Given the description of an element on the screen output the (x, y) to click on. 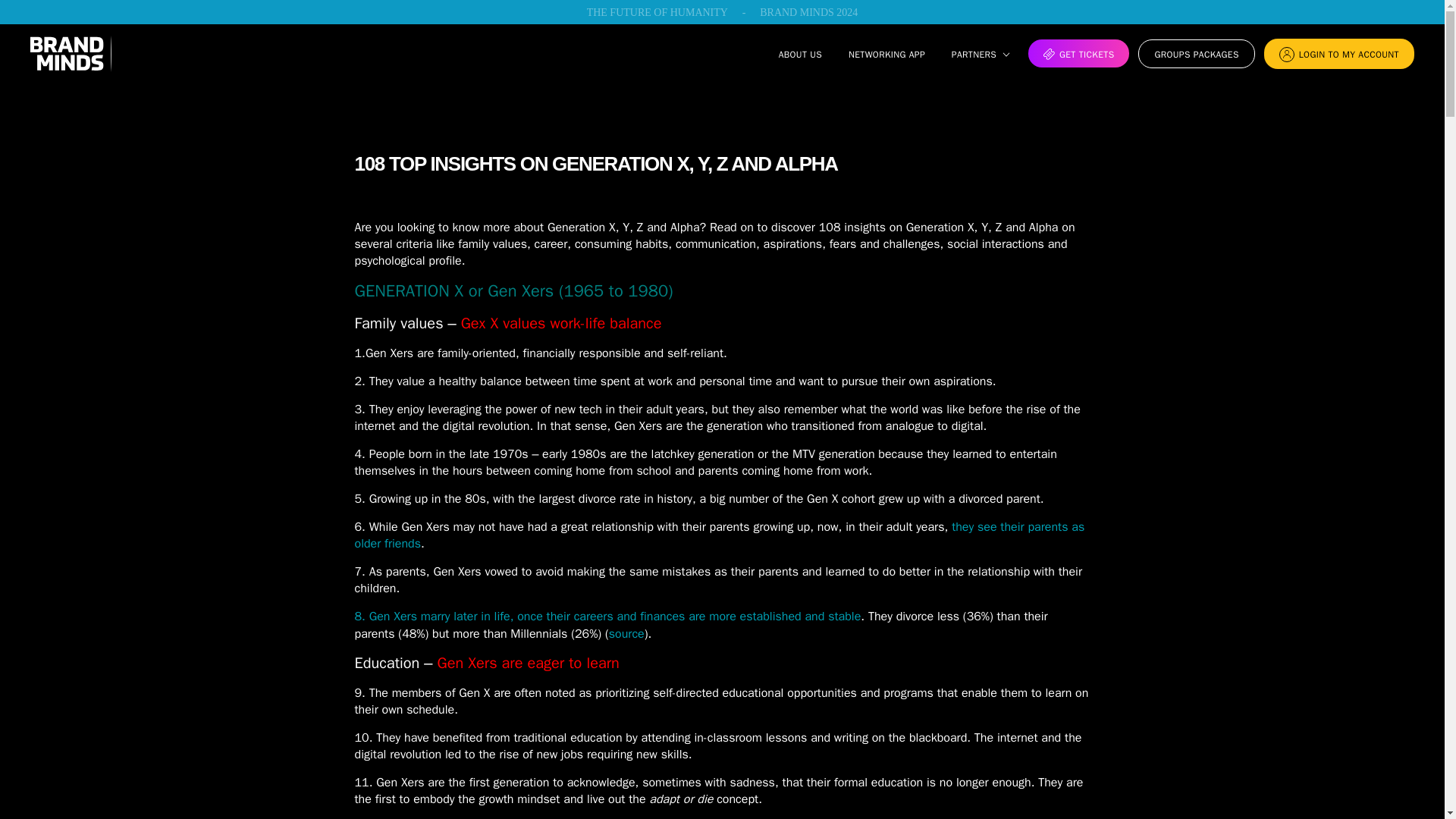
THE FUTURE OF HUMANITY (657, 12)
LOGIN TO MY ACCOUNT (1338, 53)
GROUPS PACKAGES (1195, 53)
PARTNERS (973, 54)
source (626, 633)
they see their parents as older friends (719, 535)
NETWORKING APP (886, 54)
ABOUT US (800, 54)
GET TICKETS (1078, 53)
BRAND MINDS 2024 (808, 12)
